Given the description of an element on the screen output the (x, y) to click on. 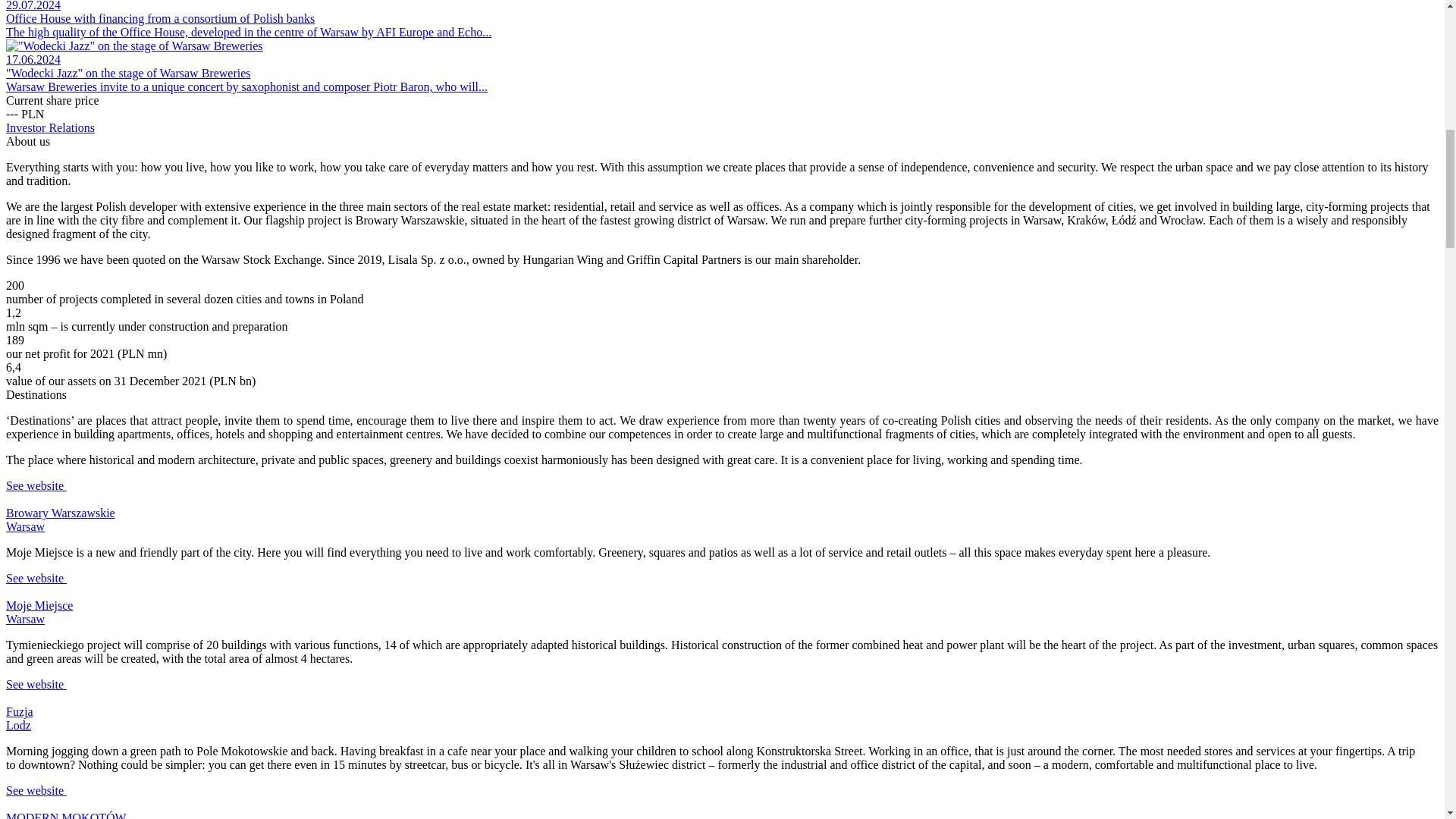
Investor Relations (49, 127)
See website (35, 577)
See website (35, 485)
